Given the description of an element on the screen output the (x, y) to click on. 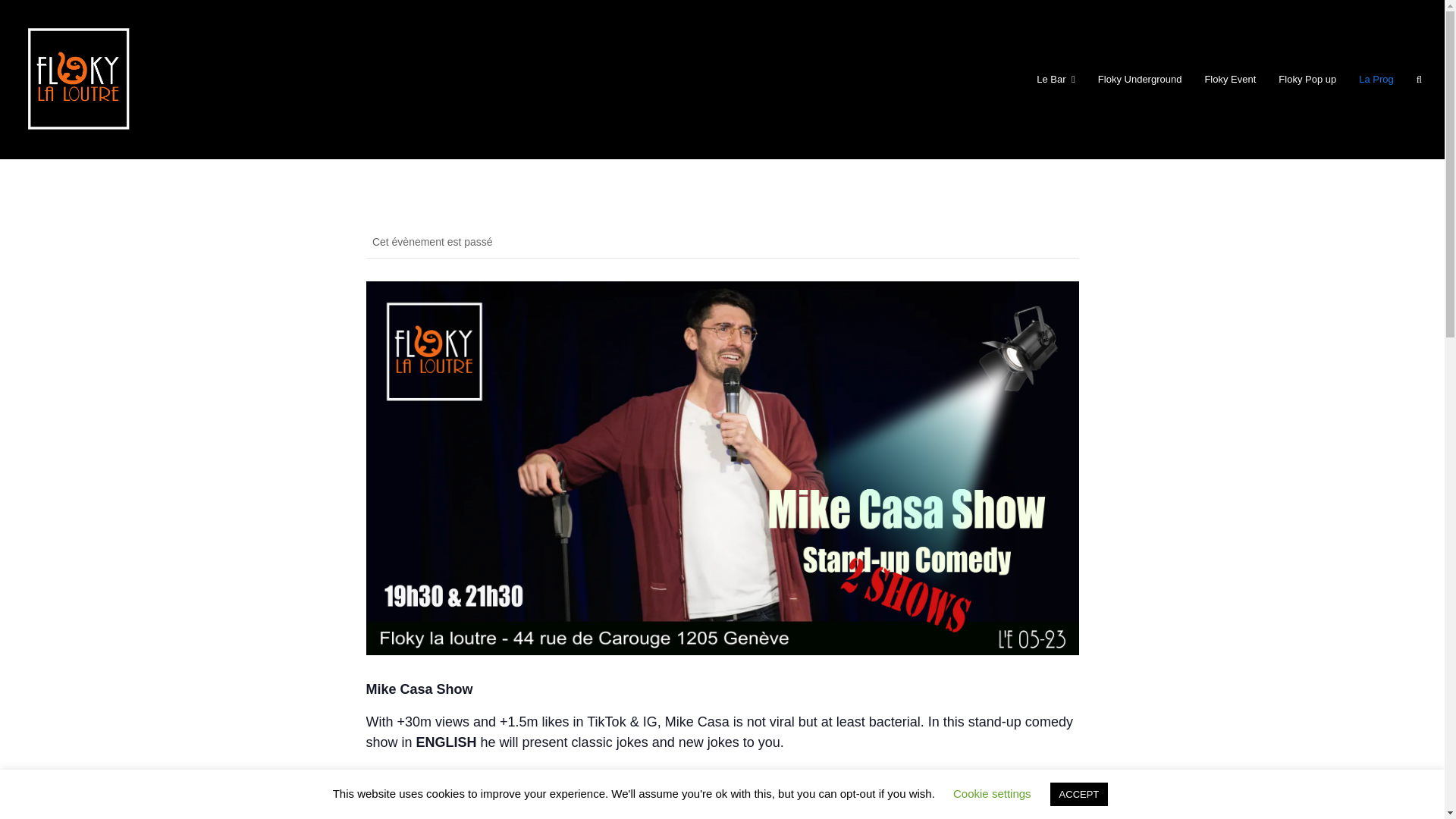
La Prog (1376, 79)
Le Bar (1055, 79)
Floky Pop up (1307, 79)
Floky Underground (1139, 79)
mikecasacomedy (432, 795)
Floky Event (1229, 79)
